Given the description of an element on the screen output the (x, y) to click on. 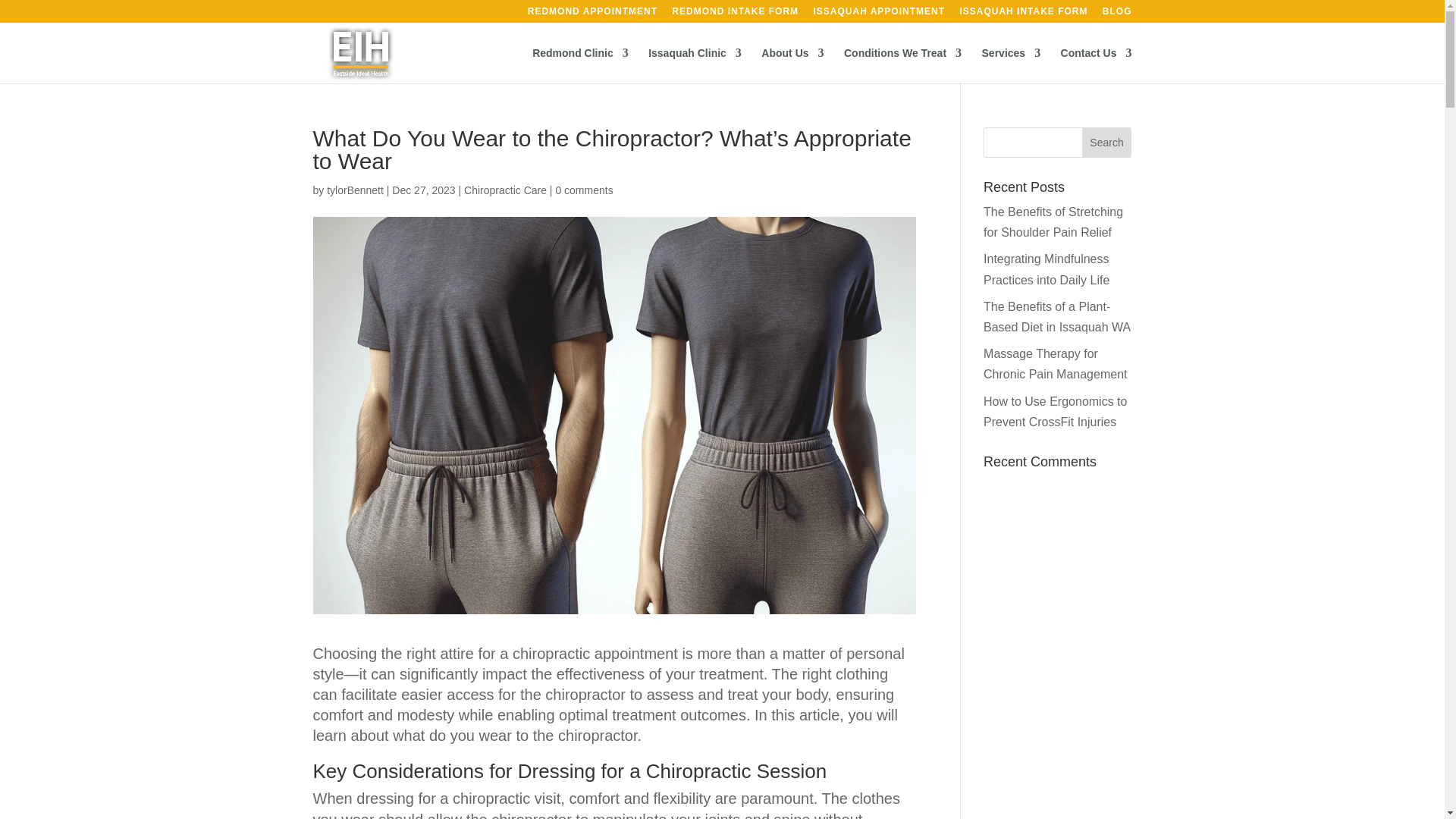
Posts by tylorBennett (355, 190)
ISSAQUAH INTAKE FORM (1023, 14)
Search (1106, 142)
Redmond Clinic (580, 65)
Contact Us (1096, 65)
Issaquah Clinic (694, 65)
BLOG (1117, 14)
Services (1011, 65)
ISSAQUAH APPOINTMENT (878, 14)
REDMOND INTAKE FORM (734, 14)
REDMOND APPOINTMENT (592, 14)
Conditions We Treat (902, 65)
About Us (792, 65)
